Given the description of an element on the screen output the (x, y) to click on. 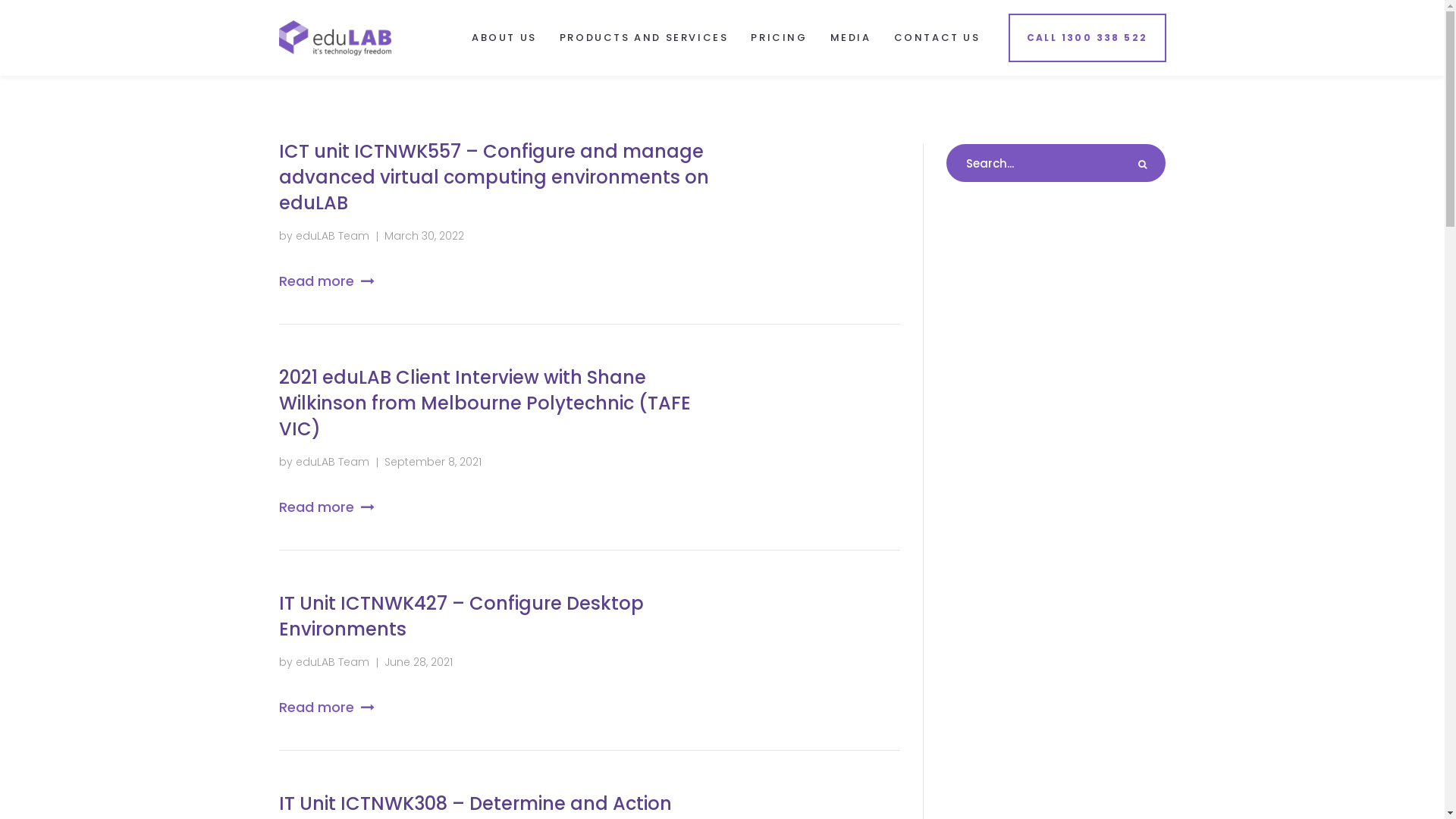
ABOUT US Element type: text (504, 37)
MEDIA Element type: text (850, 37)
PRODUCTS AND SERVICES Element type: text (644, 37)
CONTACT US Element type: text (936, 37)
CALL 1300 338 522 Element type: text (1087, 37)
eduLAB Team Element type: text (332, 461)
eduLAB Team Element type: text (332, 661)
Read more Element type: text (326, 506)
PRICING Element type: text (778, 37)
eduLAB Team Element type: text (332, 235)
Read more Element type: text (326, 280)
eduLAB Element type: hover (335, 36)
Read more Element type: text (326, 706)
